Given the description of an element on the screen output the (x, y) to click on. 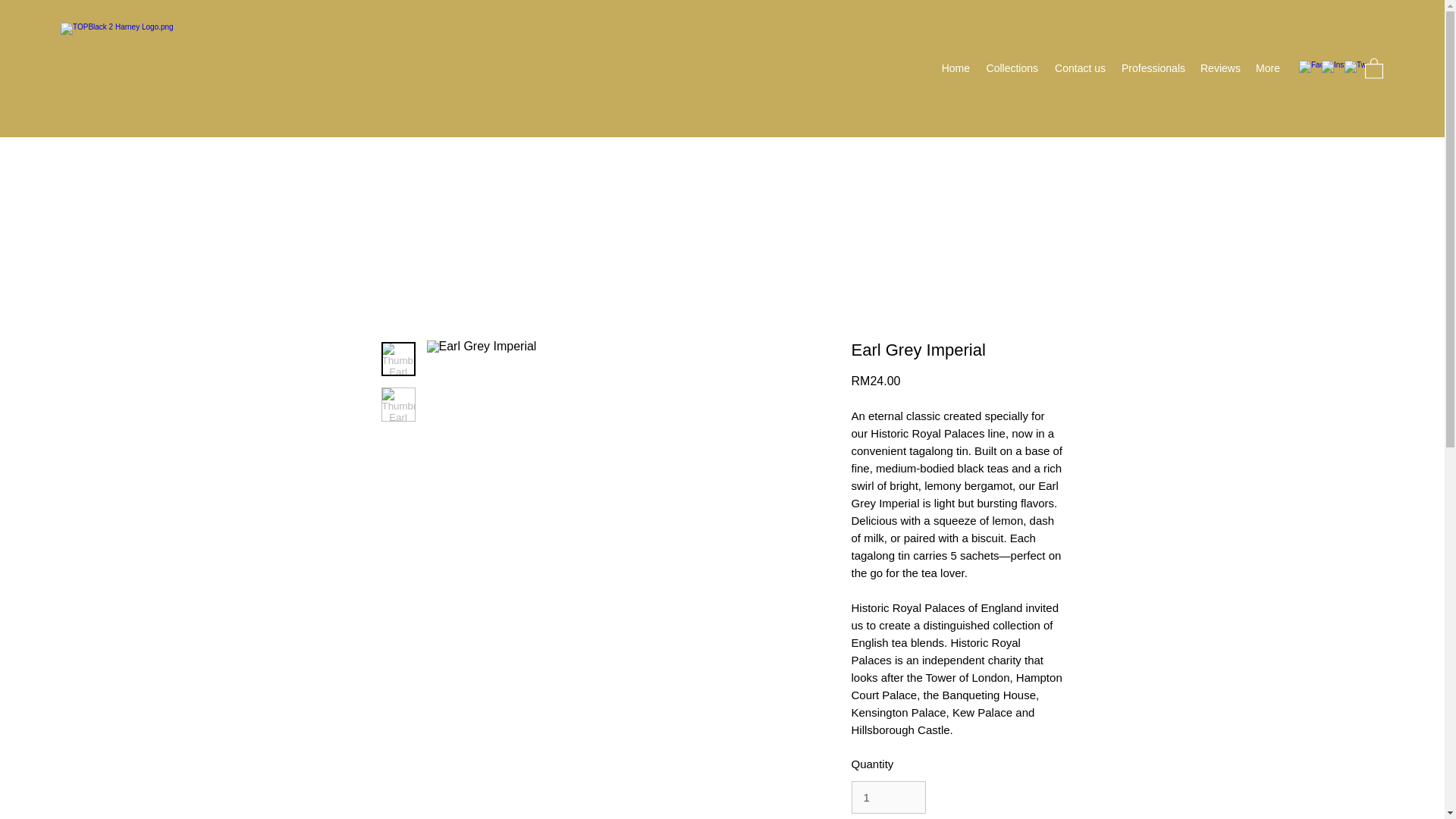
Contact us (1079, 67)
Reviews (1219, 67)
Professionals (1152, 67)
Log In (1010, 68)
Home (954, 67)
1 (887, 797)
